Given the description of an element on the screen output the (x, y) to click on. 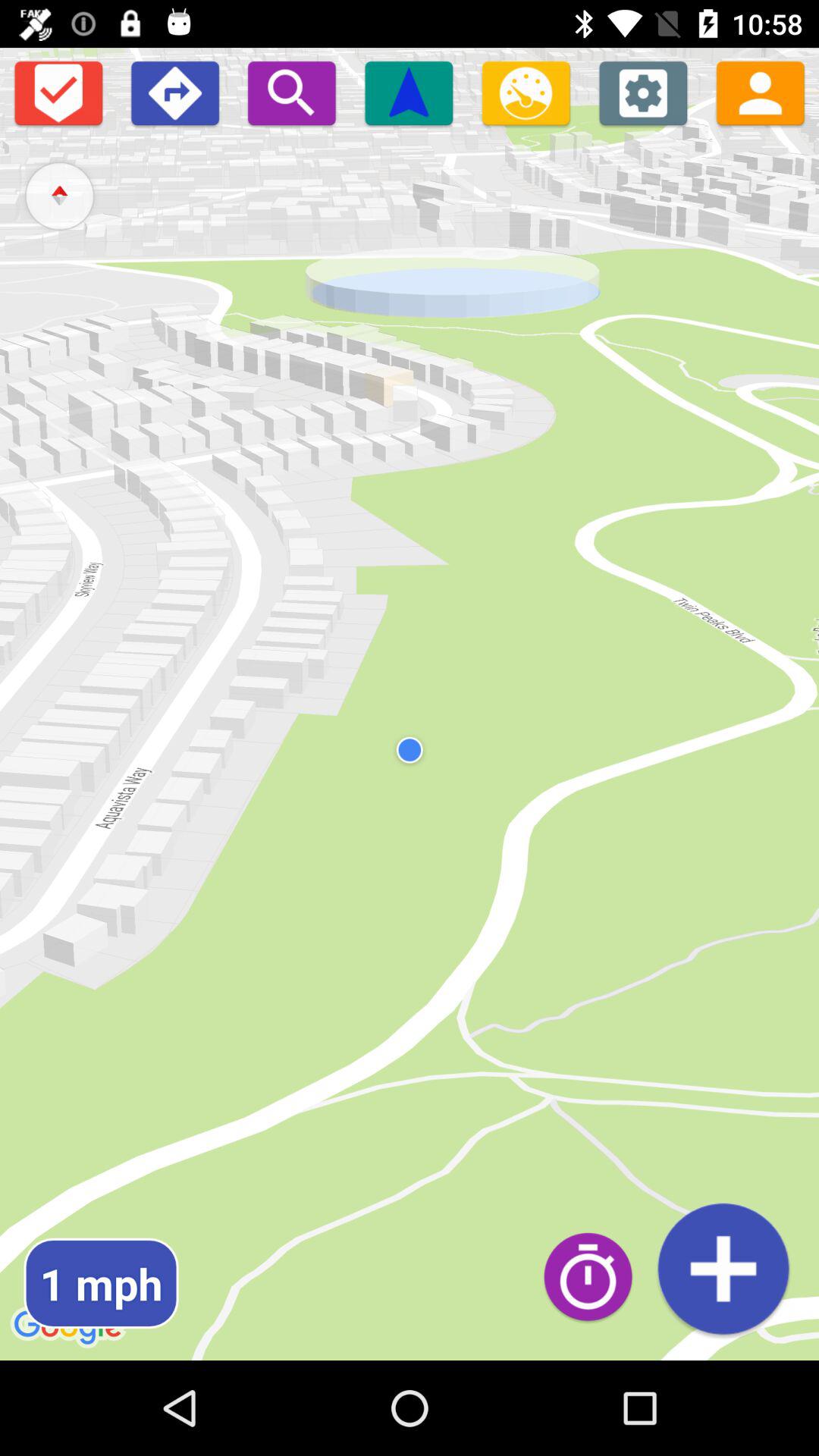
set time (595, 1276)
